Given the description of an element on the screen output the (x, y) to click on. 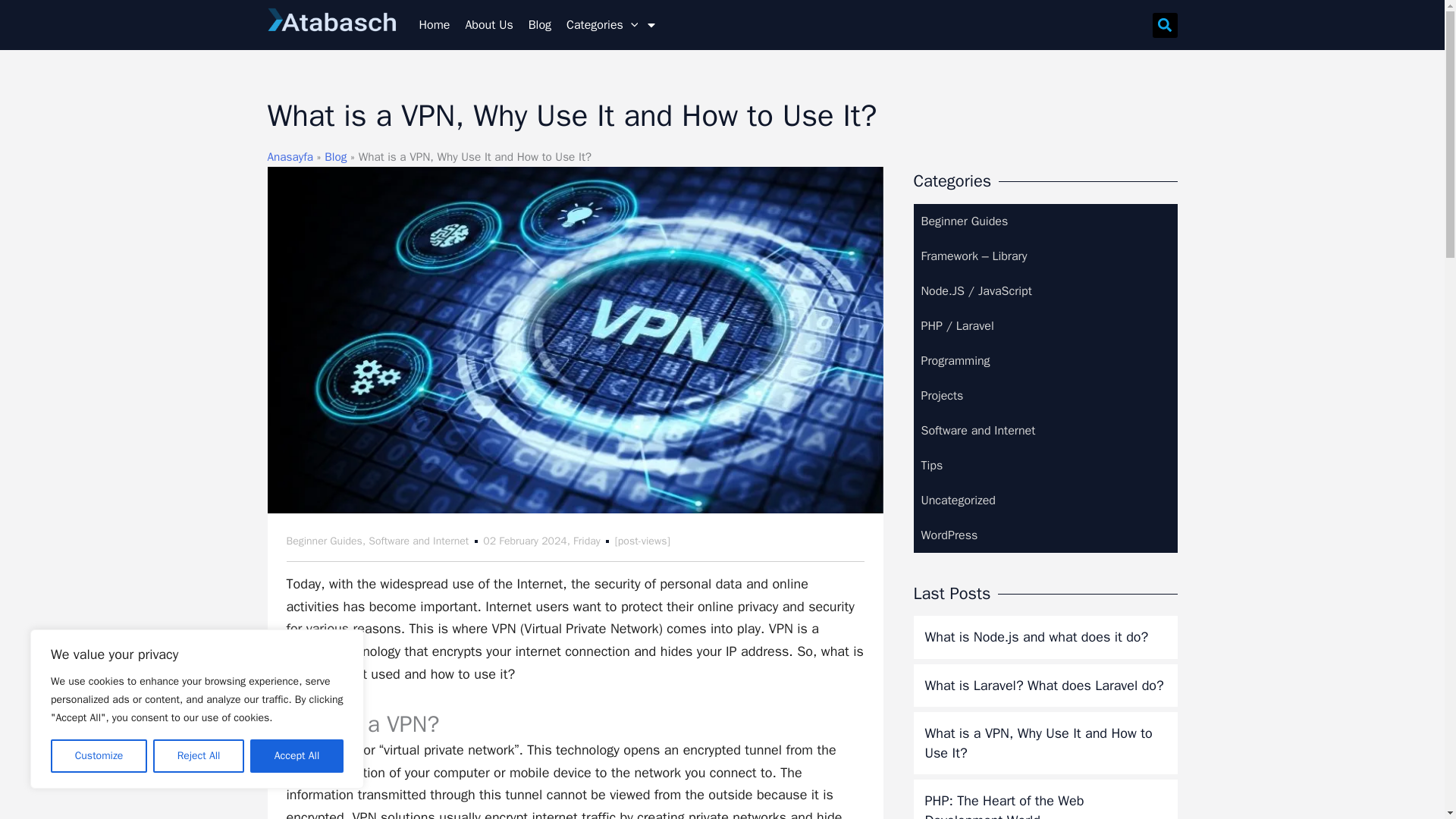
About Us (488, 24)
Home (433, 24)
Reject All (198, 756)
Customize (98, 756)
Categories (612, 24)
Accept All (296, 756)
Blog (540, 24)
